Given the description of an element on the screen output the (x, y) to click on. 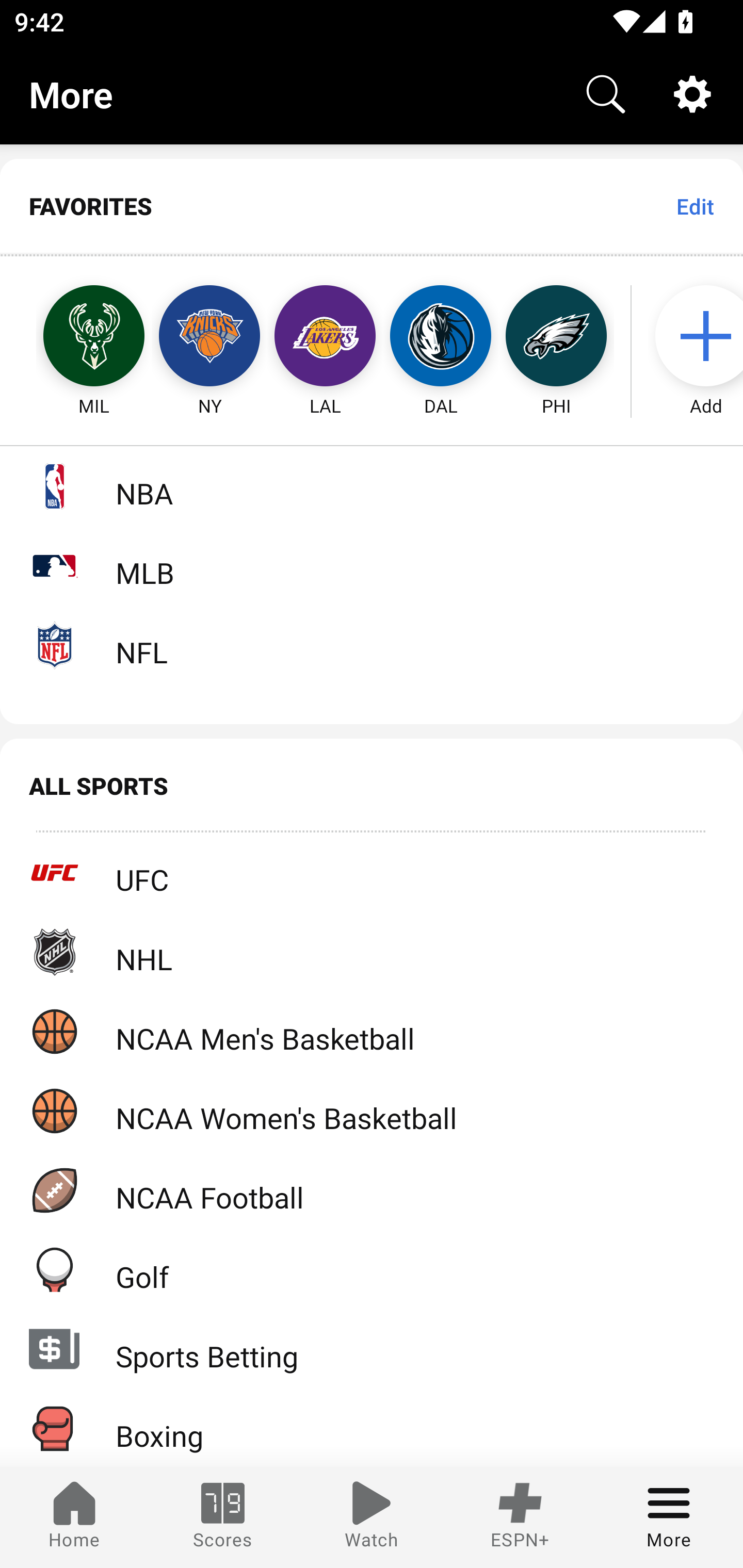
Search (605, 93)
Settings (692, 93)
Edit (695, 205)
MIL Milwaukee Bucks (75, 336)
NY New York Knicks (209, 336)
LAL Los Angeles Lakers (324, 336)
DAL Dallas Mavericks (440, 336)
PHI Philadelphia Eagles (555, 336)
 Add (695, 336)
NBA (371, 485)
MLB (371, 565)
NFL (371, 645)
UFC (371, 872)
NHL (371, 951)
NCAA Men's Basketball (371, 1030)
NCAA Women's Basketball (371, 1110)
NCAA Football (371, 1189)
Golf (371, 1269)
Sports Betting (371, 1349)
Boxing (371, 1428)
Home (74, 1517)
Scores (222, 1517)
Watch (371, 1517)
ESPN+ (519, 1517)
